Given the description of an element on the screen output the (x, y) to click on. 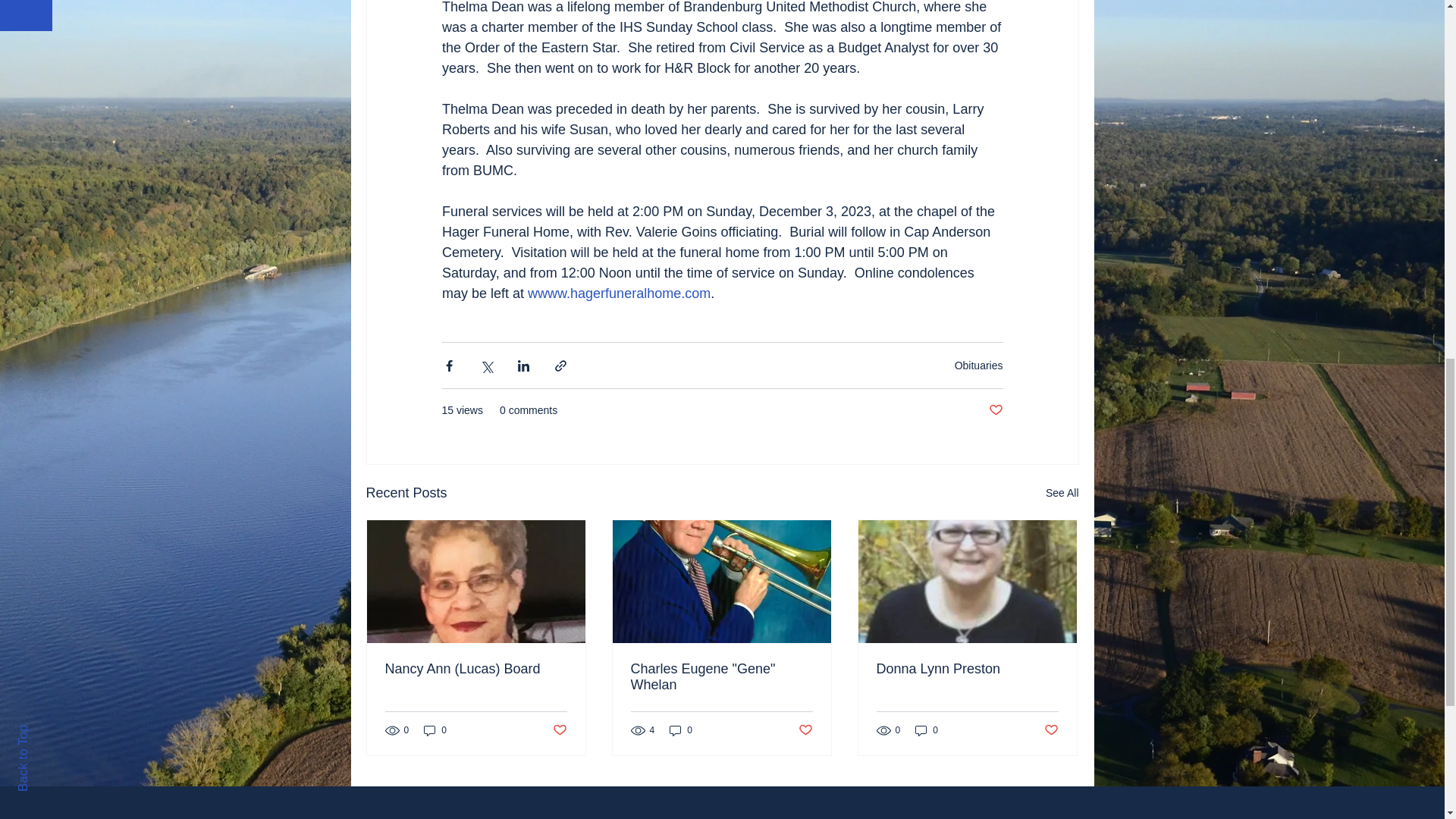
Obituaries (979, 365)
Post not marked as liked (995, 410)
Post not marked as liked (1050, 729)
Charles Eugene "Gene" Whelan (721, 676)
Post not marked as liked (558, 729)
0 (681, 730)
0 (435, 730)
wwww.hagerfuneralhome.com (618, 293)
See All (1061, 493)
Post not marked as liked (804, 729)
